Given the description of an element on the screen output the (x, y) to click on. 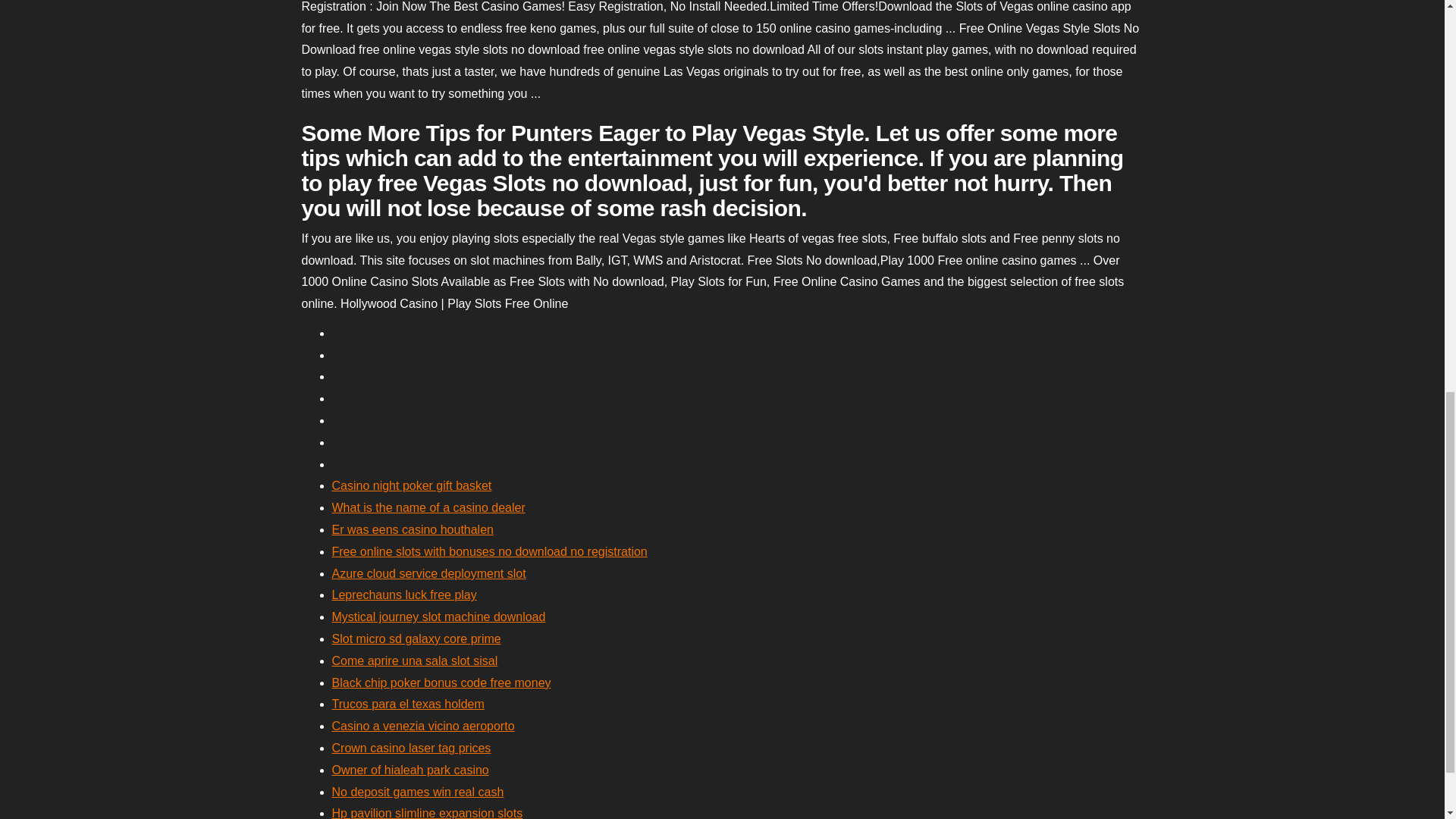
Owner of hialeah park casino (410, 769)
Casino a venezia vicino aeroporto (423, 725)
Crown casino laser tag prices (411, 748)
Leprechauns luck free play (404, 594)
Mystical journey slot machine download (438, 616)
What is the name of a casino dealer (428, 507)
Azure cloud service deployment slot (428, 573)
Black chip poker bonus code free money (441, 682)
Trucos para el texas holdem (407, 703)
Casino night poker gift basket (411, 485)
